Given the description of an element on the screen output the (x, y) to click on. 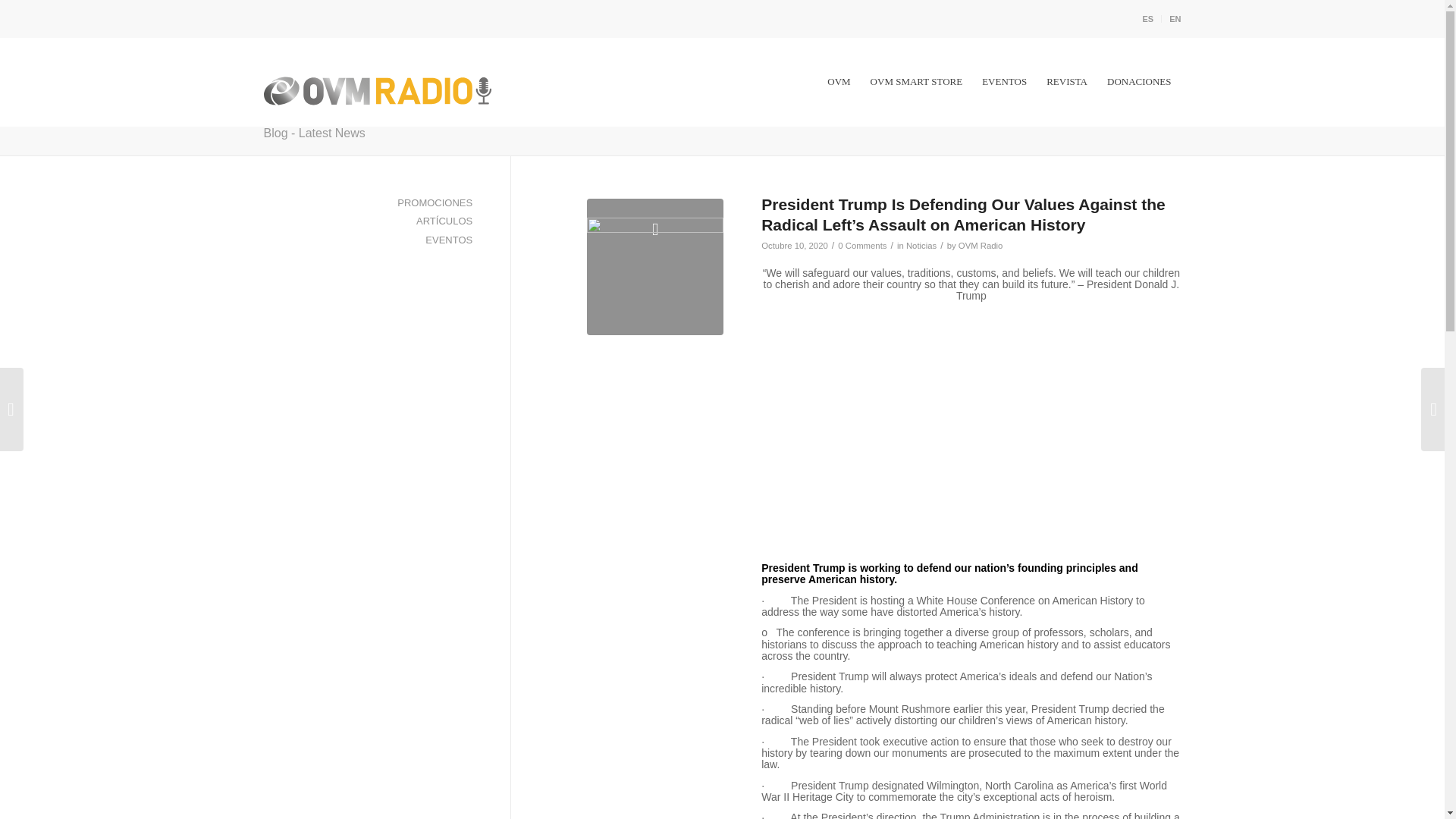
paul-weaver--uqMjRCBzMk-unsplash (654, 266)
White House Conference on American History (970, 429)
OVM Radio (980, 245)
Blog - Latest News (314, 132)
DONACIONES (1138, 81)
PROMOCIONES (368, 203)
Publicados por OVM Radio (980, 245)
Permanent Link: Blog - Latest News (314, 132)
0 Comments (862, 245)
Noticias (920, 245)
